Given the description of an element on the screen output the (x, y) to click on. 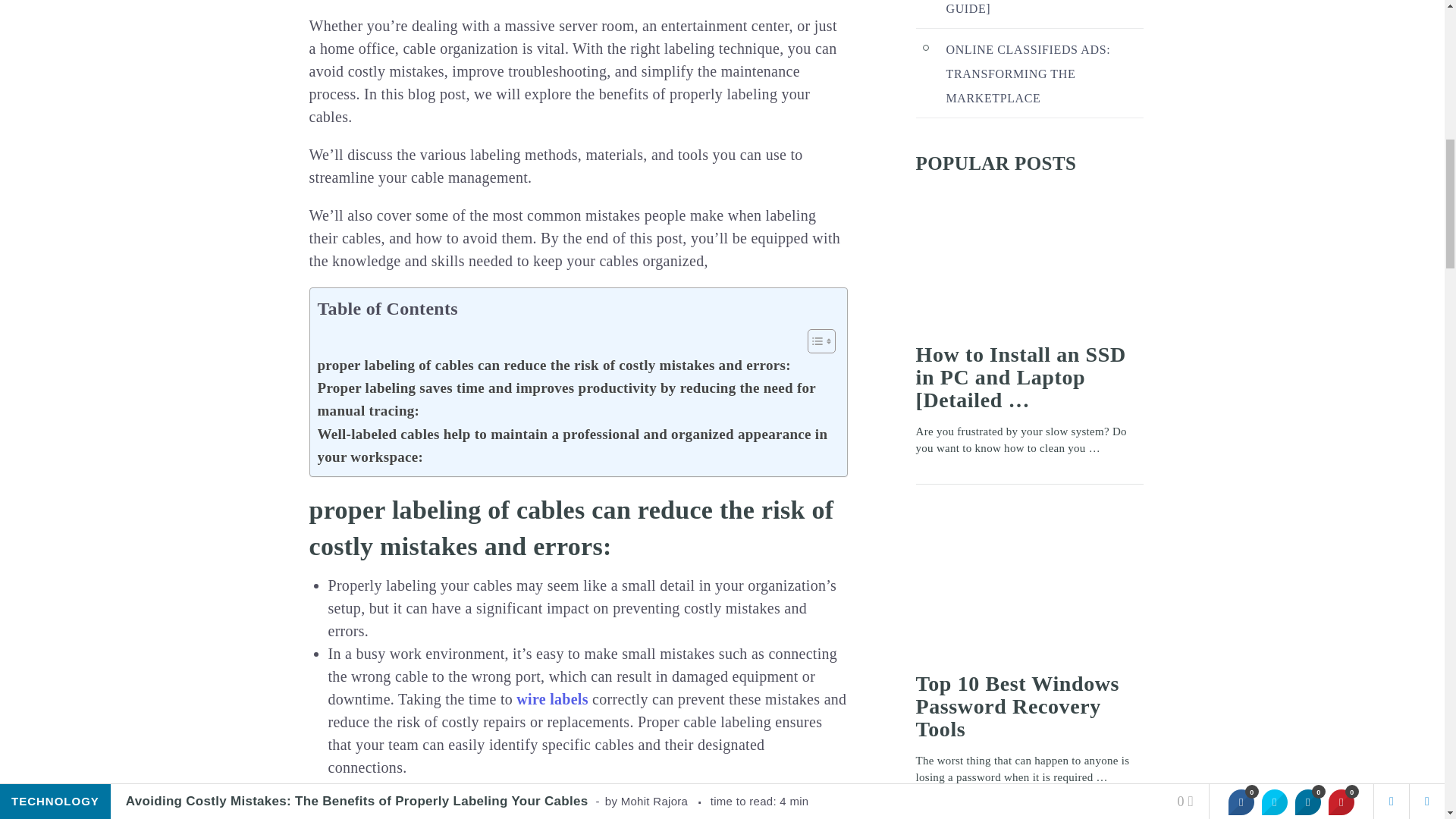
wire labels (552, 699)
